Given the description of an element on the screen output the (x, y) to click on. 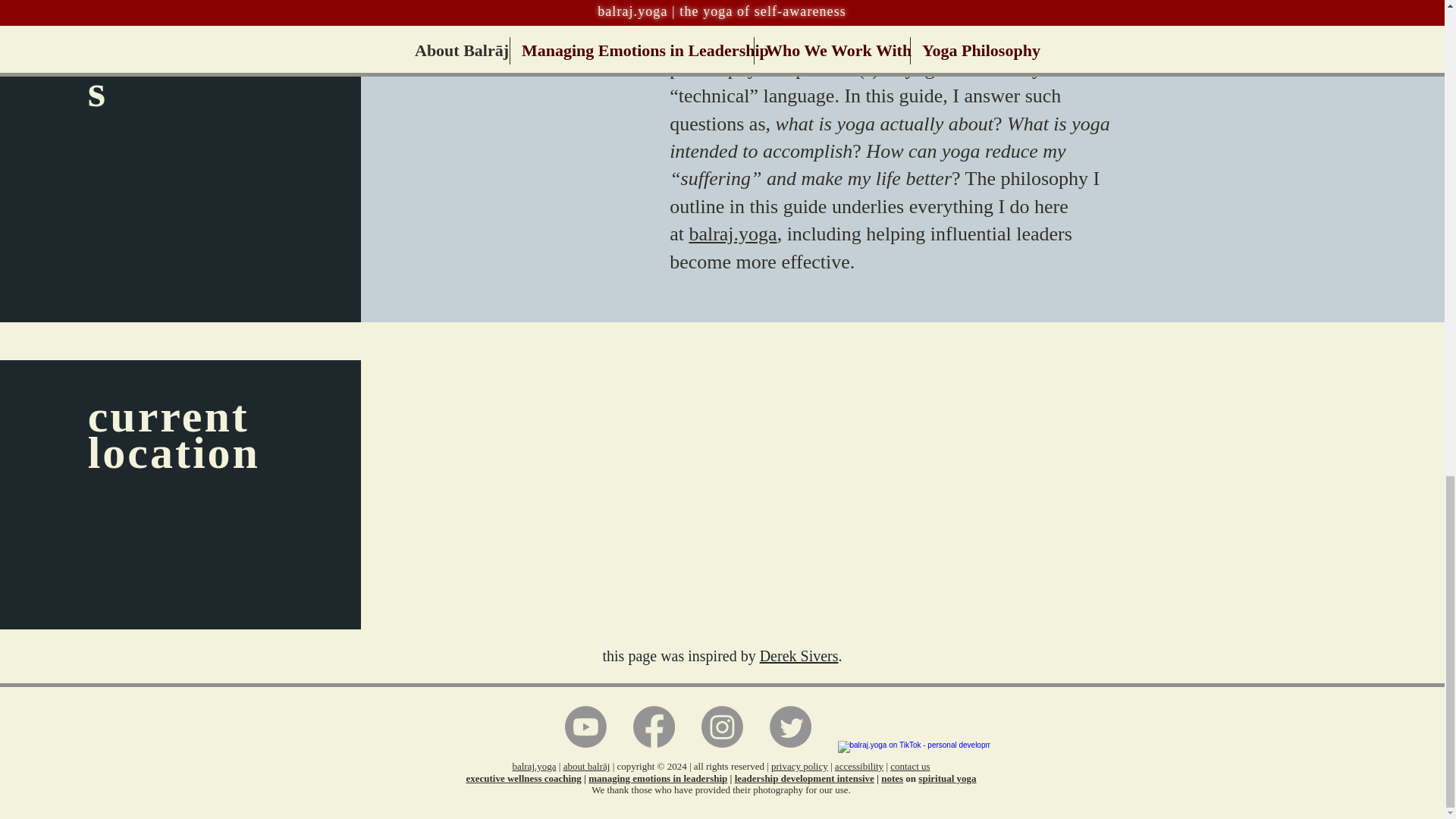
notes (891, 778)
privacy policy (799, 766)
spiritual yoga (920, 13)
balraj.yoga (534, 766)
contact us (909, 766)
spiritual yoga (946, 778)
managing emotions in leadership (657, 778)
balraj.yoga (732, 233)
leadership development intensive (805, 778)
executive wellness coaching (522, 778)
Derek Sivers (799, 655)
accessibility (858, 766)
